Given the description of an element on the screen output the (x, y) to click on. 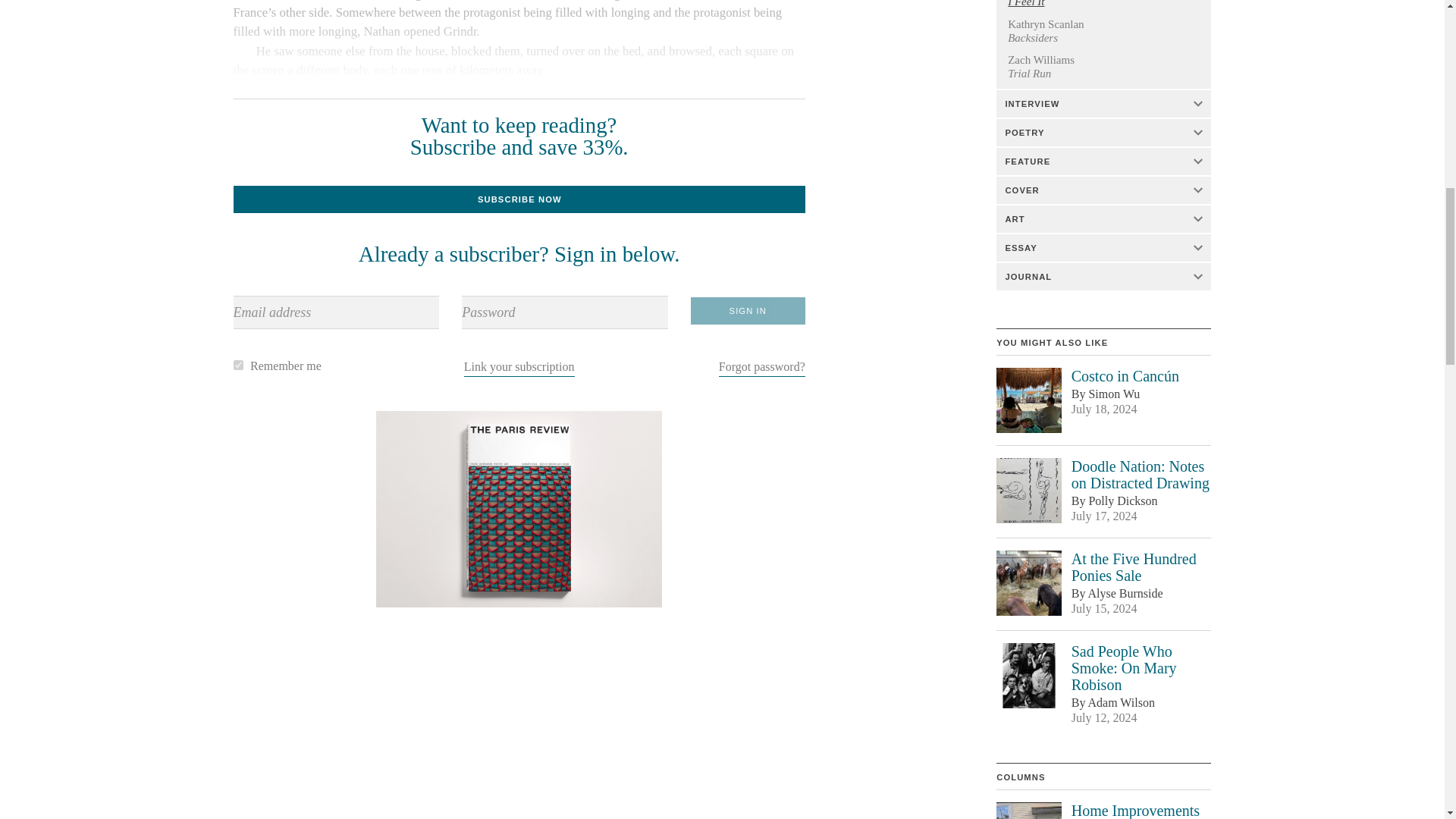
Sign In (747, 310)
remember (237, 365)
